Given the description of an element on the screen output the (x, y) to click on. 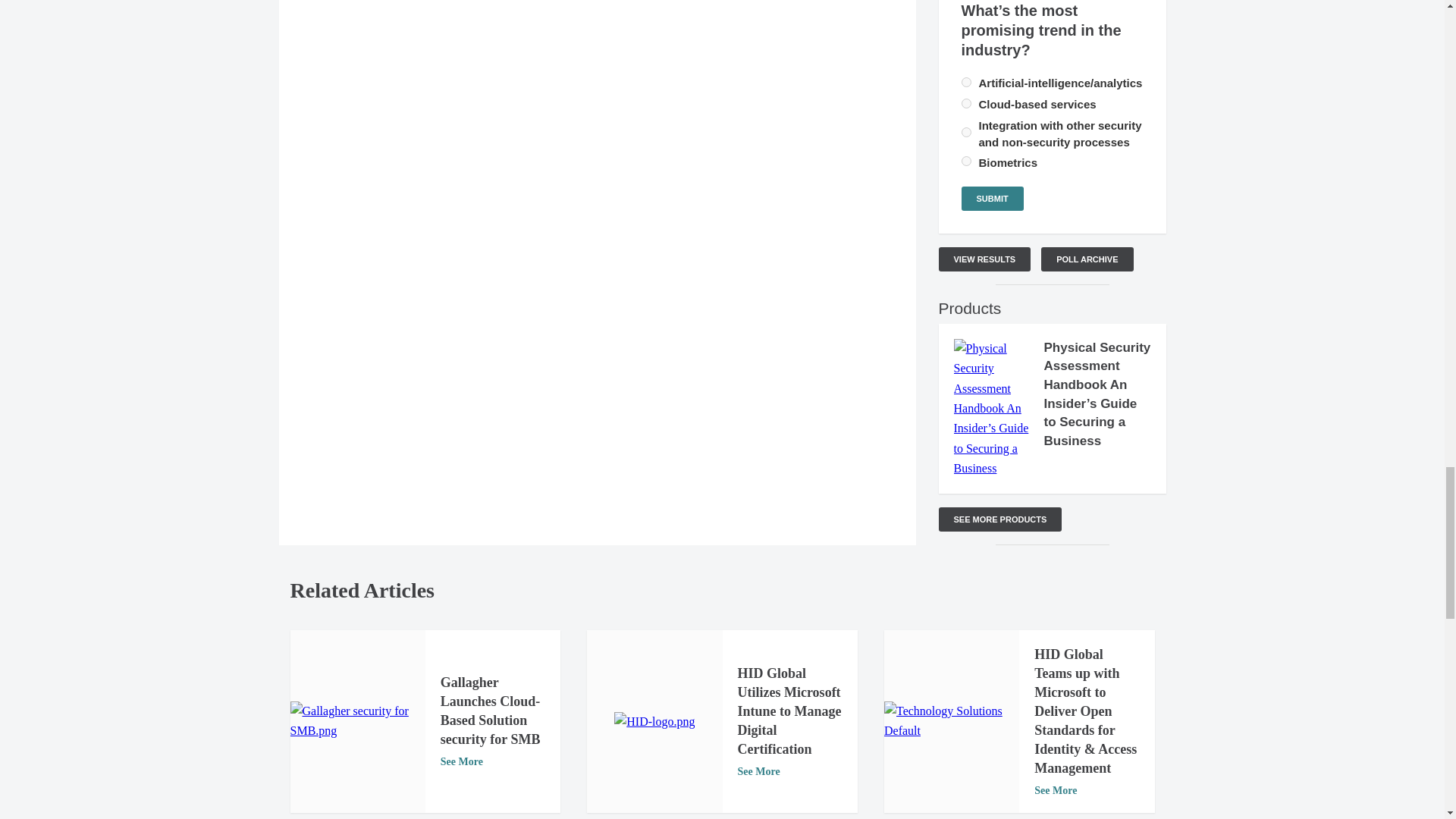
491 (965, 132)
Technology Solutions Default (951, 721)
Submit (991, 198)
Gallagher security for SMB.png (357, 721)
492 (965, 161)
490 (965, 103)
HID-logo.png (654, 721)
489 (965, 81)
